Given the description of an element on the screen output the (x, y) to click on. 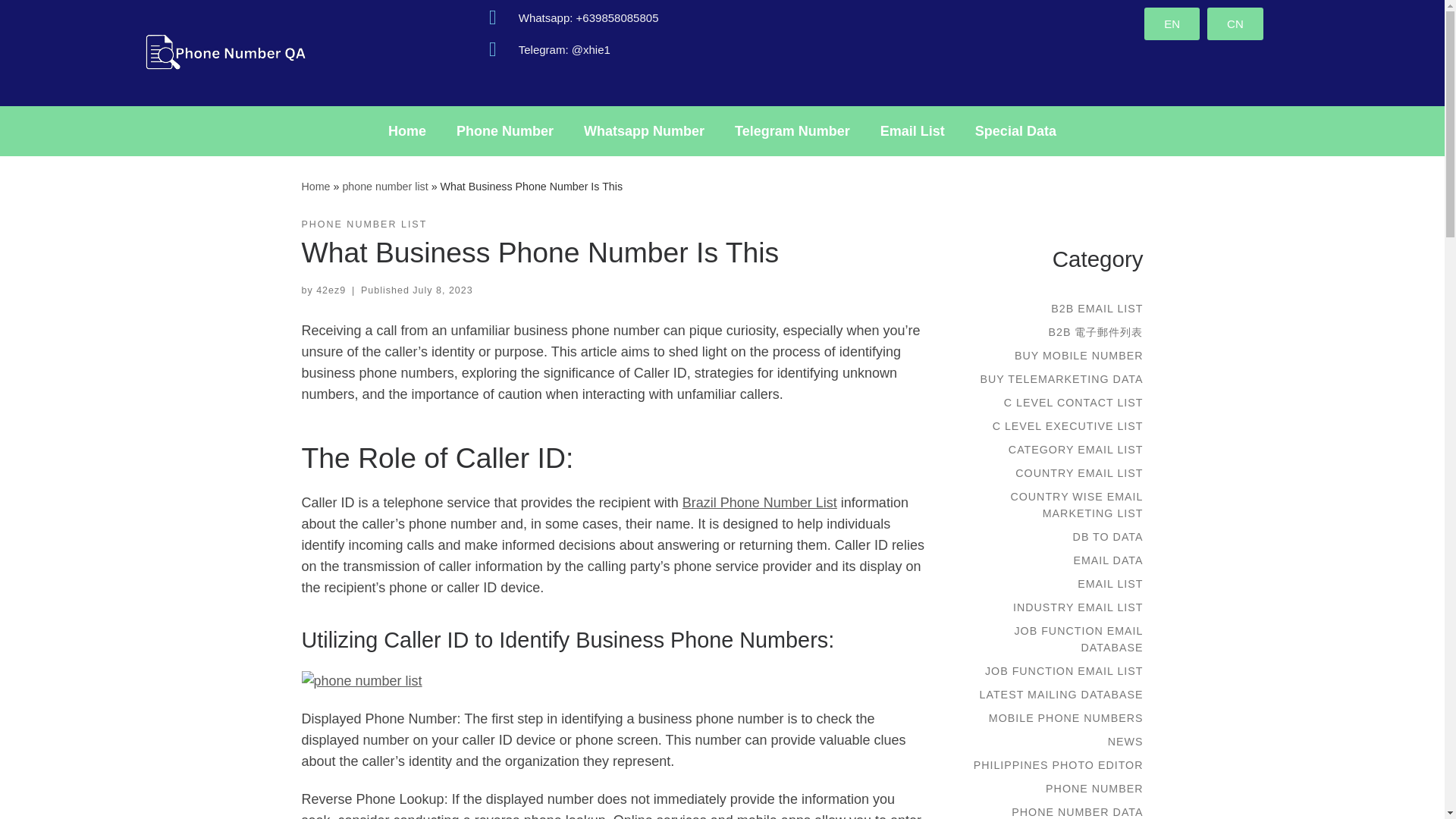
CN (1235, 23)
View all posts by 42ez9 (330, 290)
Whatsapp Number (644, 130)
July 8, 2023 (441, 290)
View all posts in phone number list (364, 224)
PHONE NUMBER LIST (364, 224)
10:59 am (441, 290)
phone number list (385, 186)
Special Data (1015, 130)
phone number list (385, 186)
